Given the description of an element on the screen output the (x, y) to click on. 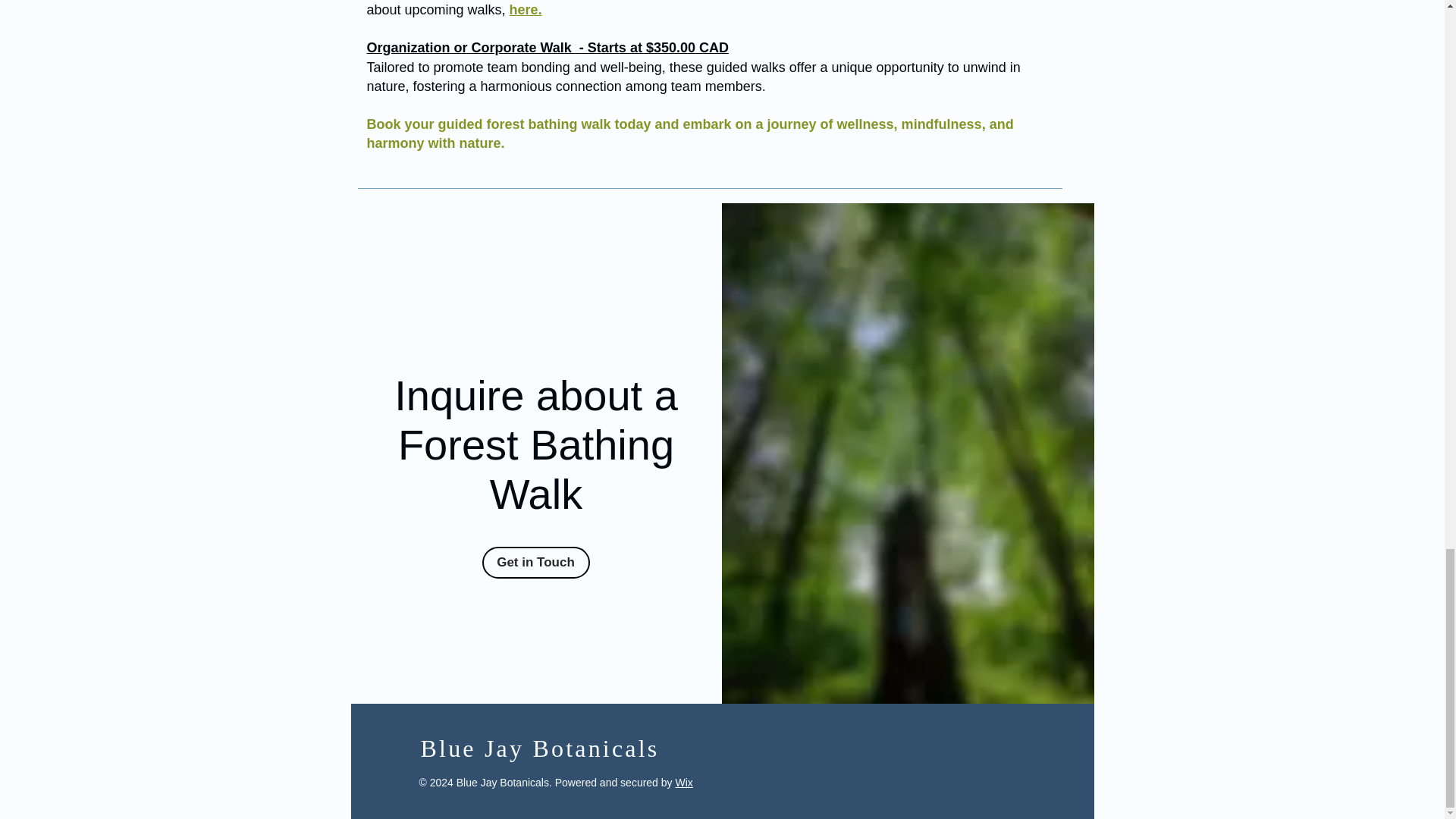
Blue Jay Botanicals (539, 748)
here. (525, 9)
Get in Touch (535, 562)
Wix (684, 782)
